Given the description of an element on the screen output the (x, y) to click on. 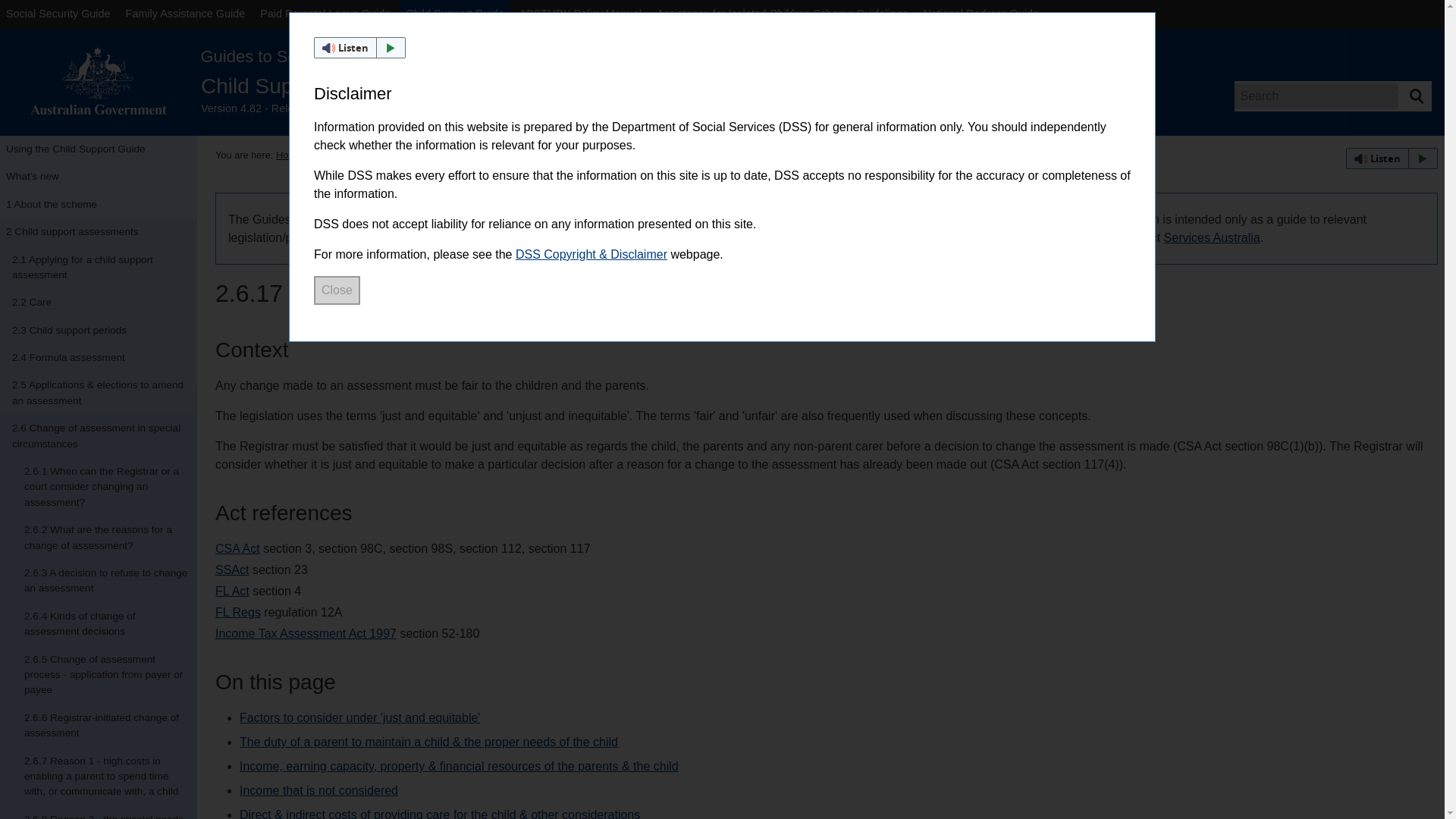
2.1 Applying for a child support assessment (98, 267)
2 Child support assessments (98, 231)
ABSTUDY Policy Manual (580, 14)
2.6.6 Registrar-initiated change of assessment (98, 725)
Family Assistance Guide (185, 14)
Child Support Guide (454, 14)
2.6.4 Kinds of change of assessment decisions (98, 624)
Social Security Act 1991 (231, 569)
2.6.8 Reason 2 - the special needs of the child (98, 812)
Social Security Guide (58, 14)
Assistance for Isolated Children Scheme Guidelines (782, 14)
